Given the description of an element on the screen output the (x, y) to click on. 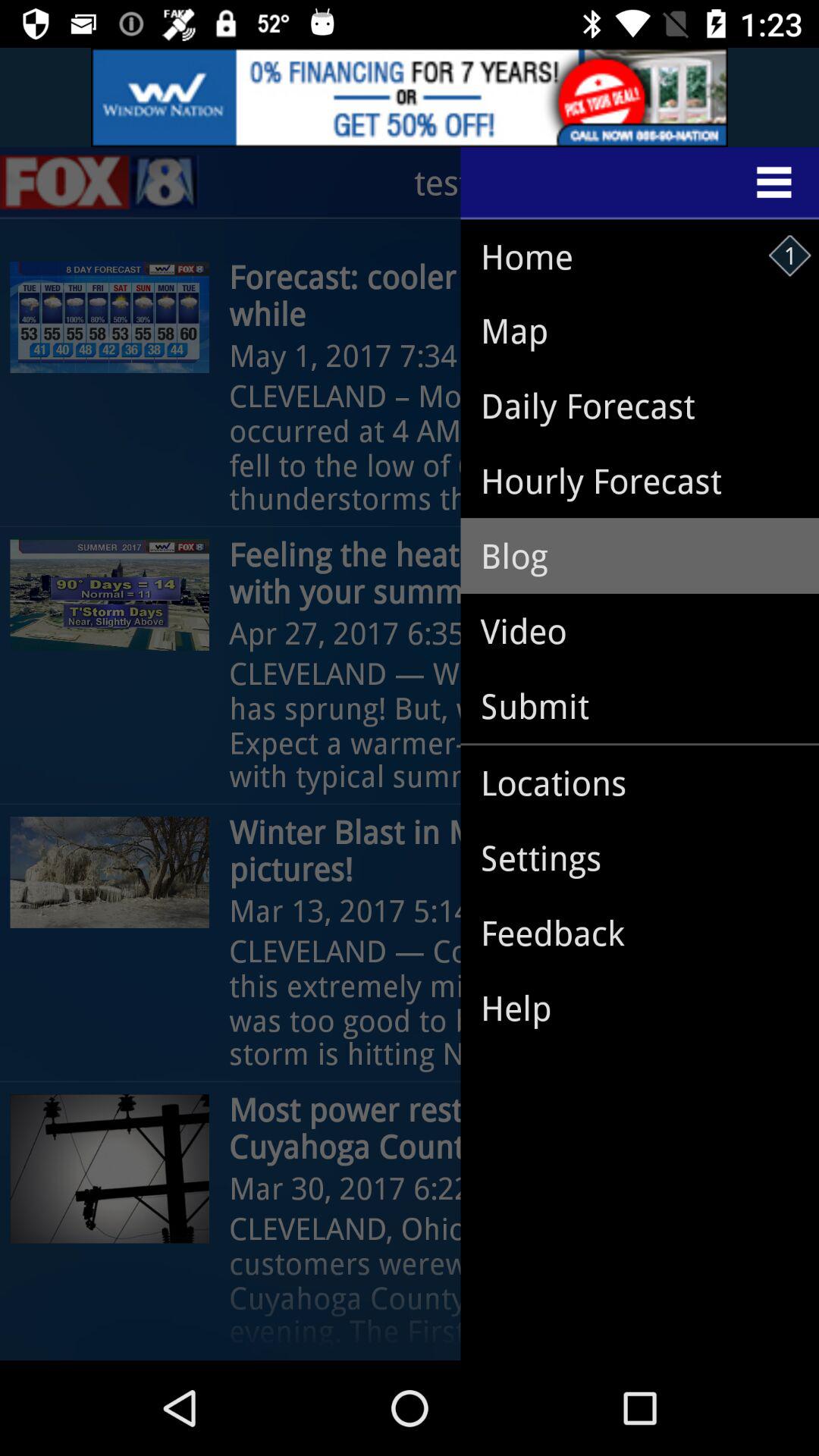
click on the button which is above the home (640, 183)
select the last image of the page (109, 1168)
